Given the description of an element on the screen output the (x, y) to click on. 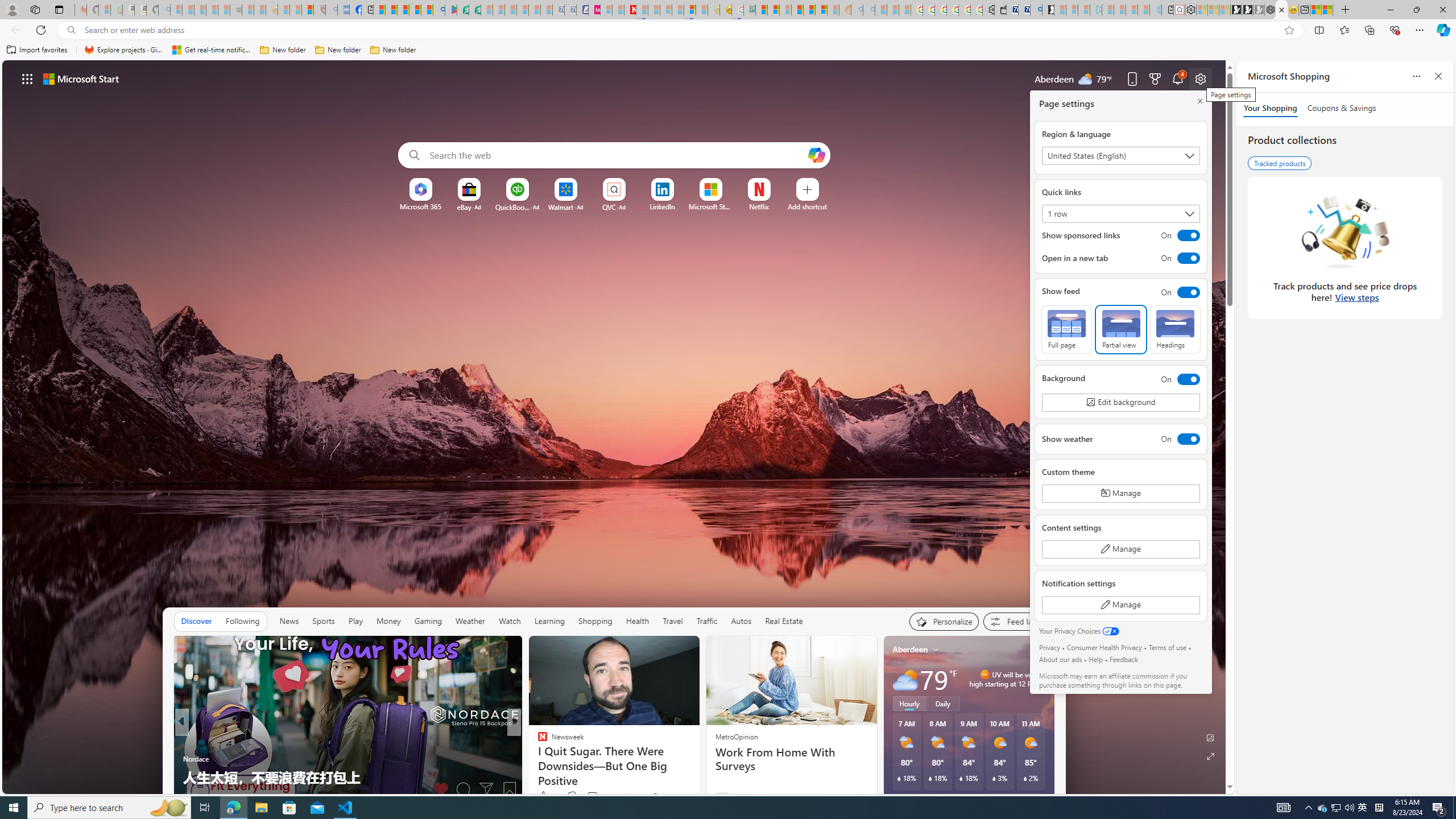
Favorites bar (728, 49)
Local - MSN (307, 9)
Travel (672, 621)
Consumer Health Privacy (1103, 646)
Terms of Use Agreement (462, 9)
